Given the description of an element on the screen output the (x, y) to click on. 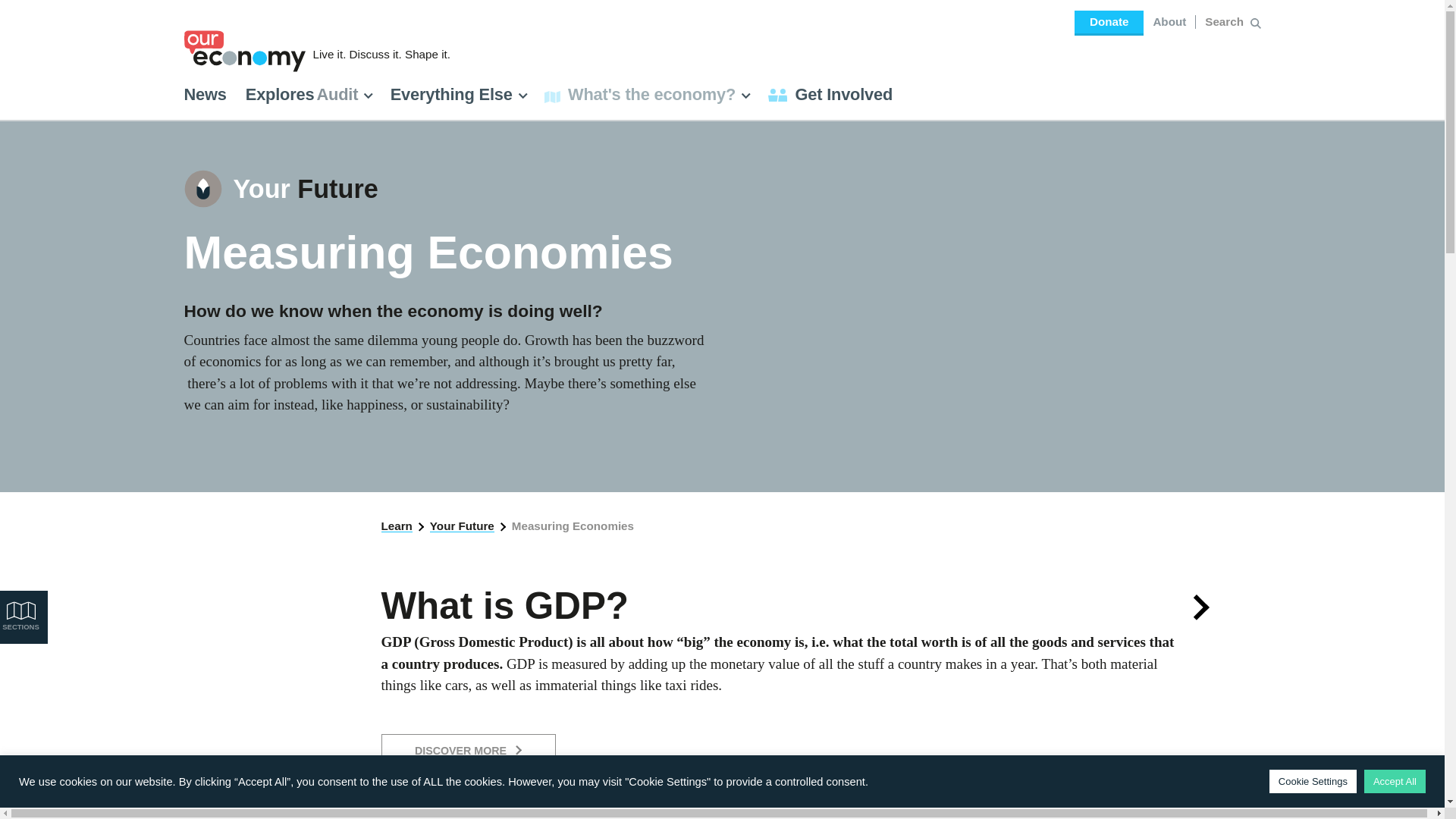
See Full Menu (522, 95)
See Full Menu (368, 95)
News (204, 94)
See Full Menu (745, 95)
